Given the description of an element on the screen output the (x, y) to click on. 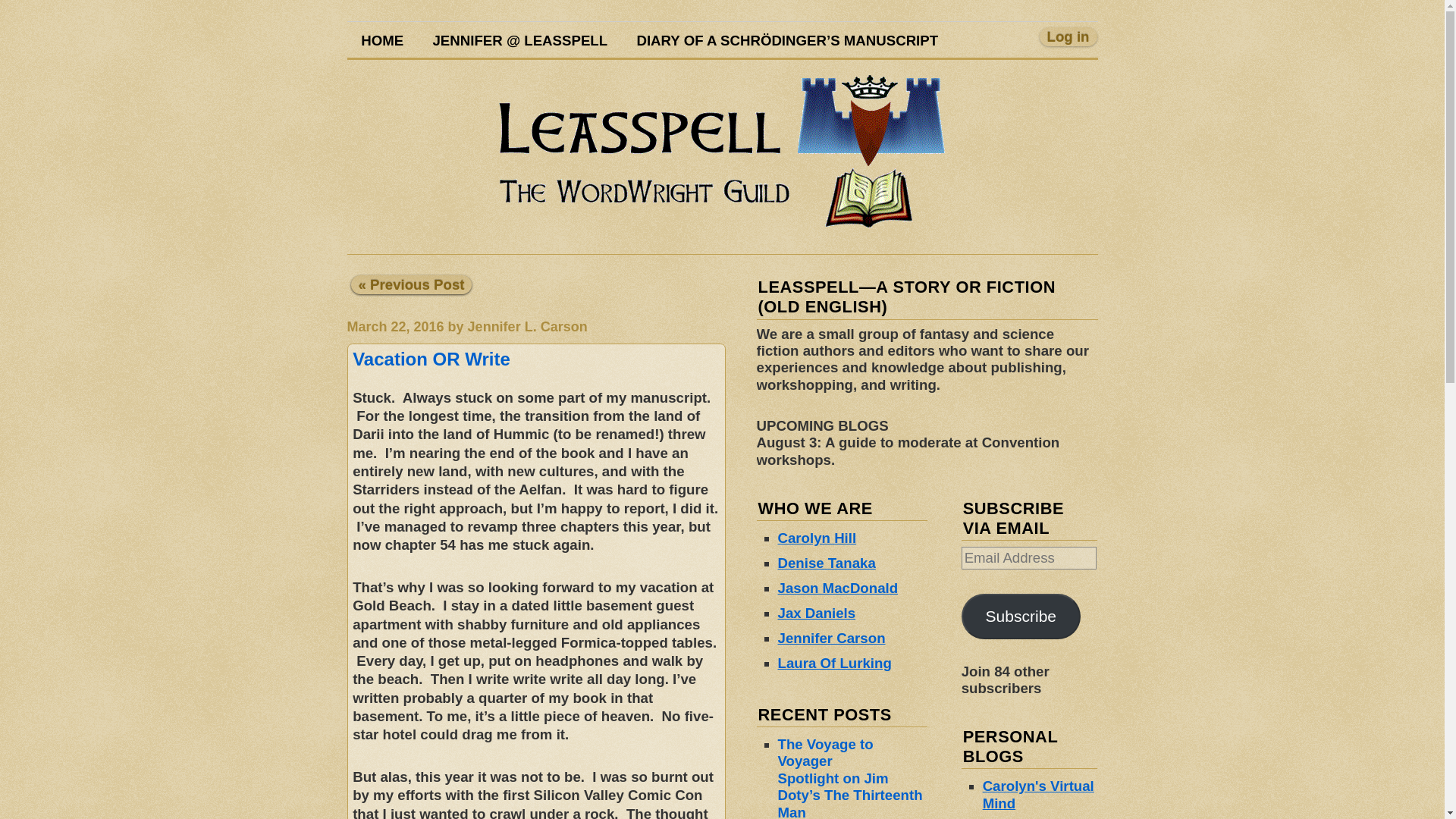
Carolyn Hill (817, 537)
Log in (1068, 36)
Jennifer L. Carson (527, 326)
March 22, 2016 (395, 326)
View all posts by Jennifer L. Carson (527, 326)
Denise Tanaka (826, 562)
Carolyn's Virtual Mind (1038, 794)
Jax Daniels (816, 612)
Laura Of Lurking (834, 662)
Log in or register (1068, 36)
